Given the description of an element on the screen output the (x, y) to click on. 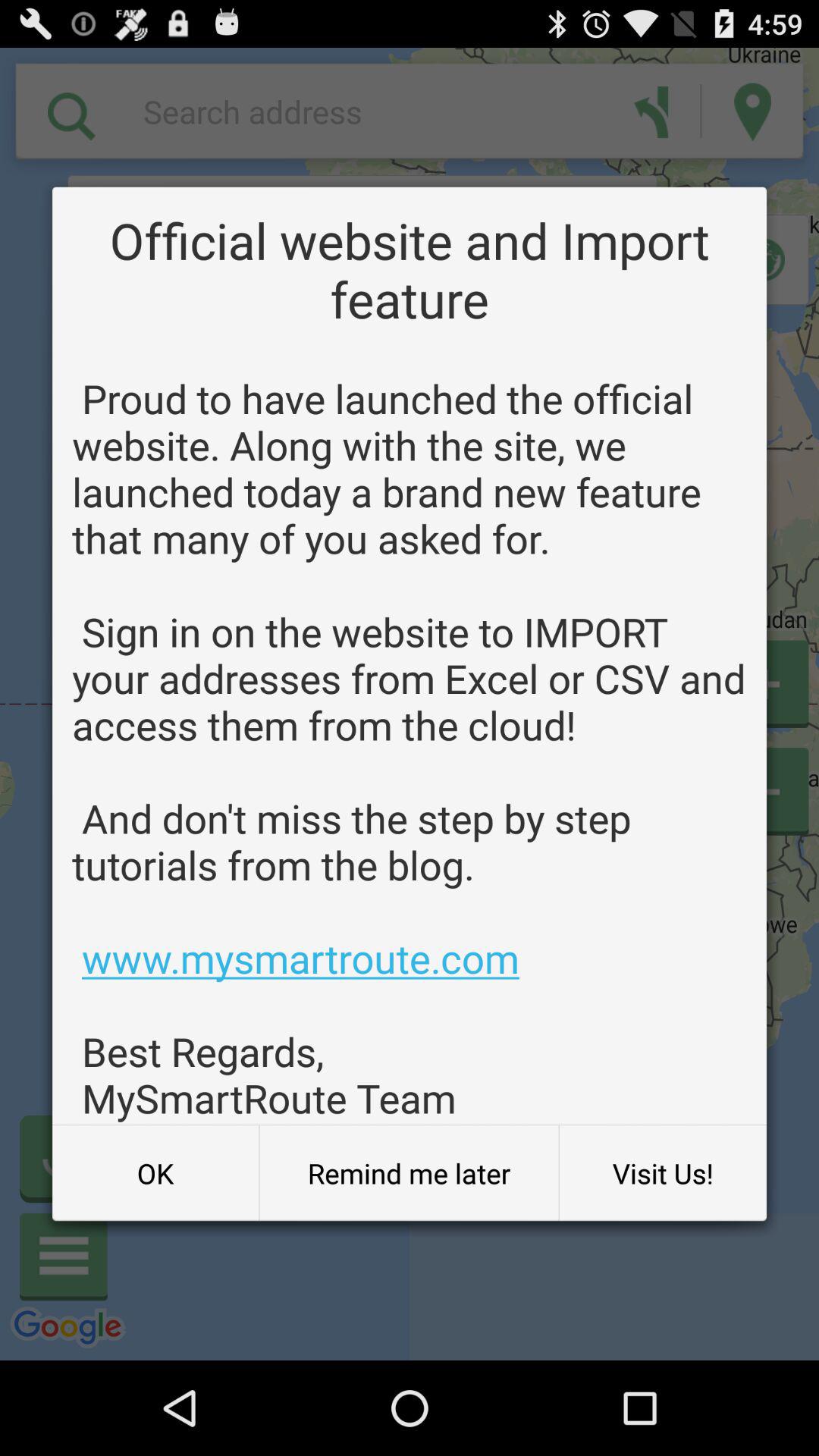
select icon above the ok icon (409, 747)
